Given the description of an element on the screen output the (x, y) to click on. 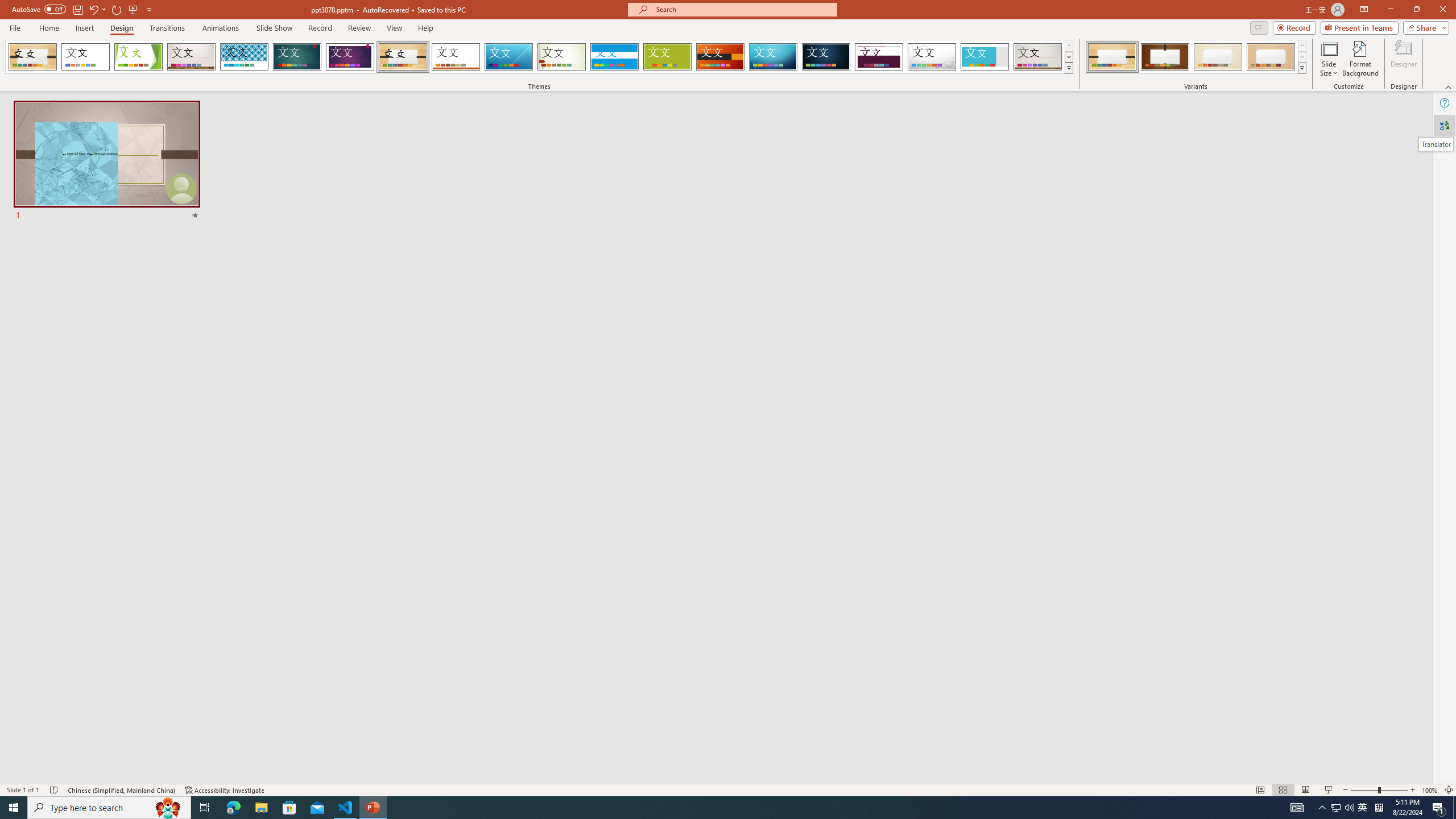
Microsoft search (742, 9)
Translator (1435, 143)
Frame (984, 56)
Basis (667, 56)
